Given the description of an element on the screen output the (x, y) to click on. 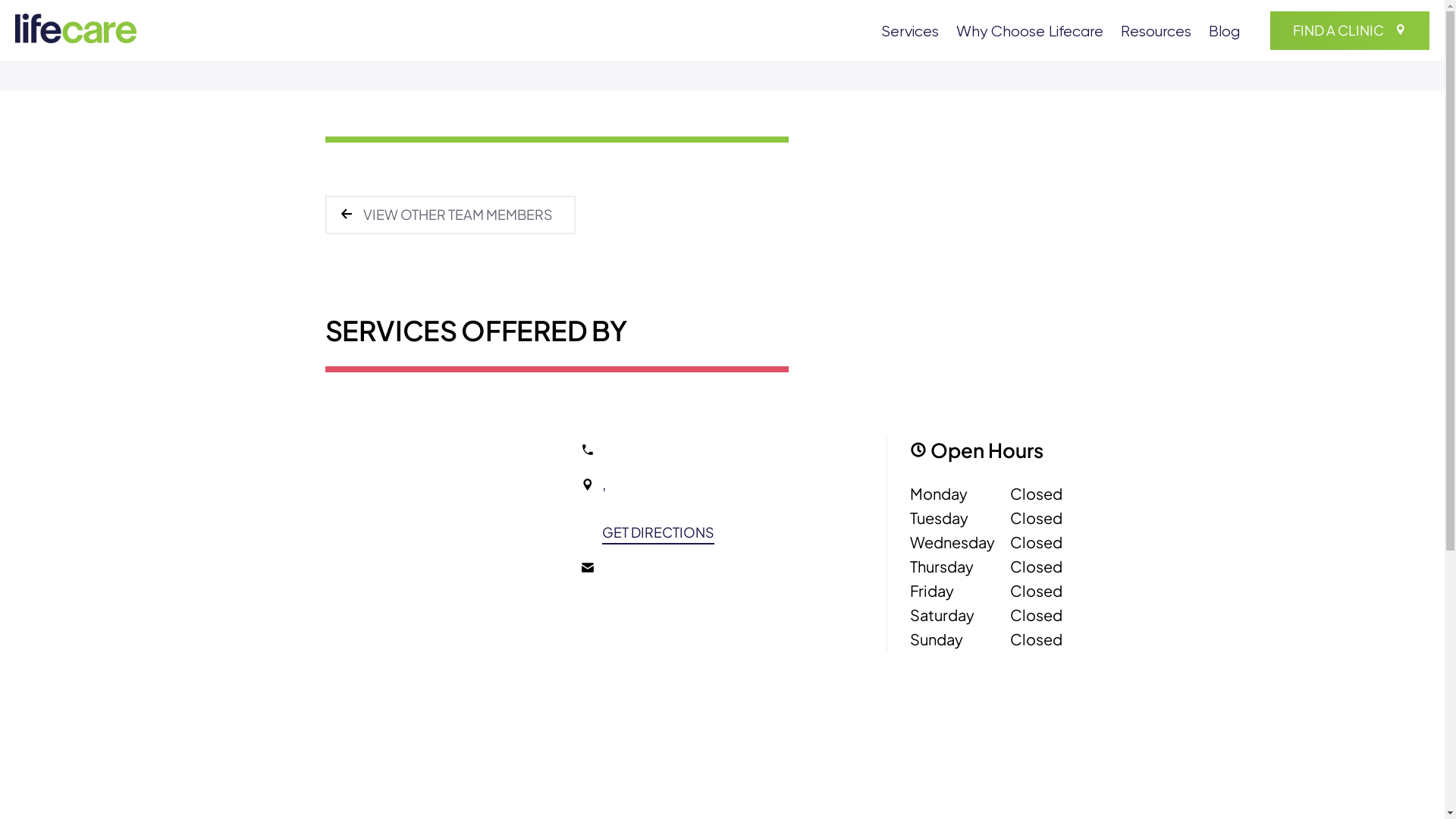
FIND A CLINIC Element type: text (1349, 30)
Services Element type: text (909, 32)
Blog Element type: text (1223, 32)
Resources Element type: text (1155, 32)
GET DIRECTIONS Element type: text (658, 532)
VIEW OTHER TEAM MEMBERS Element type: text (449, 214)
Why Choose Lifecare Element type: text (1029, 32)
